Given the description of an element on the screen output the (x, y) to click on. 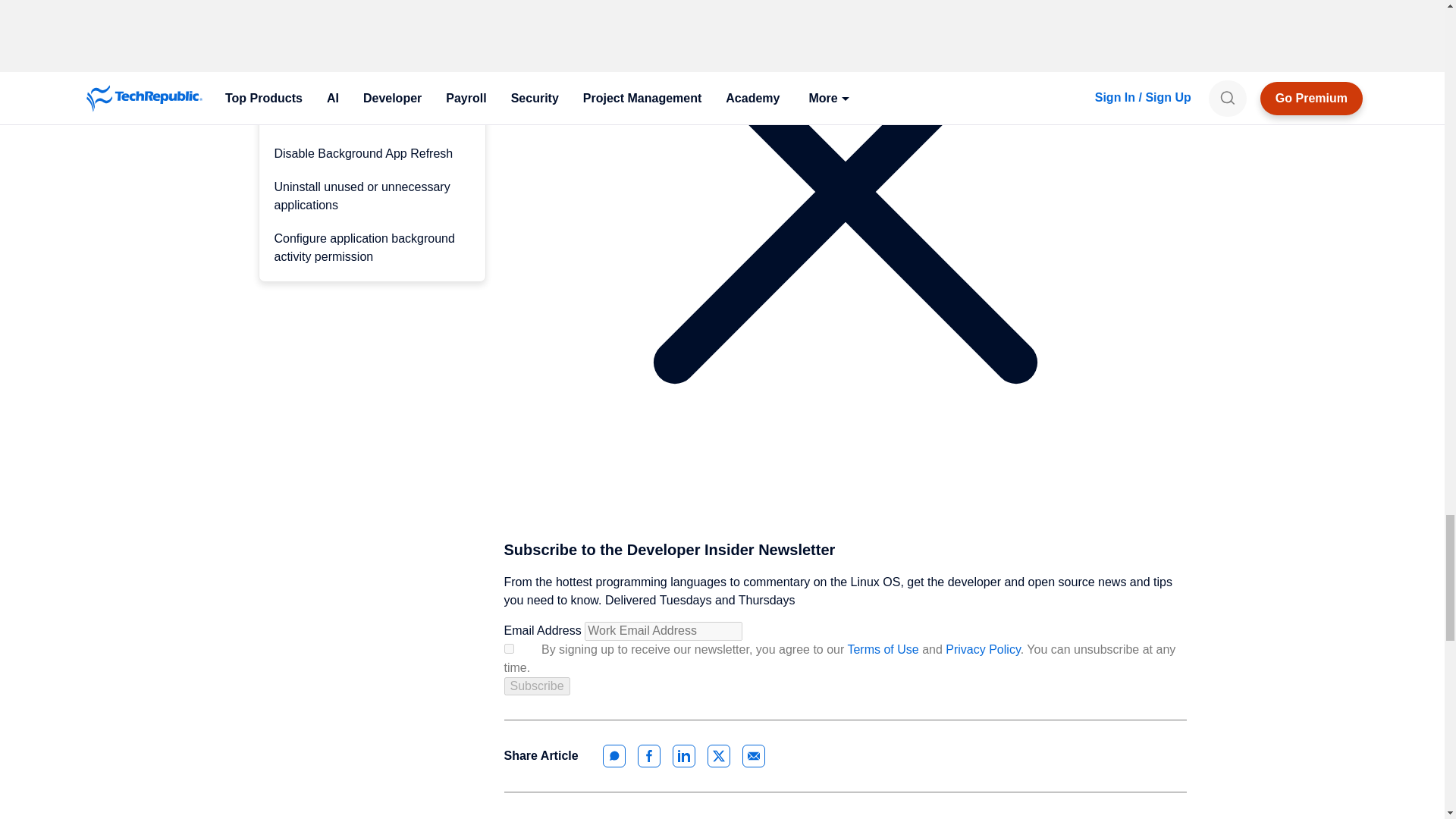
on (508, 648)
